Given the description of an element on the screen output the (x, y) to click on. 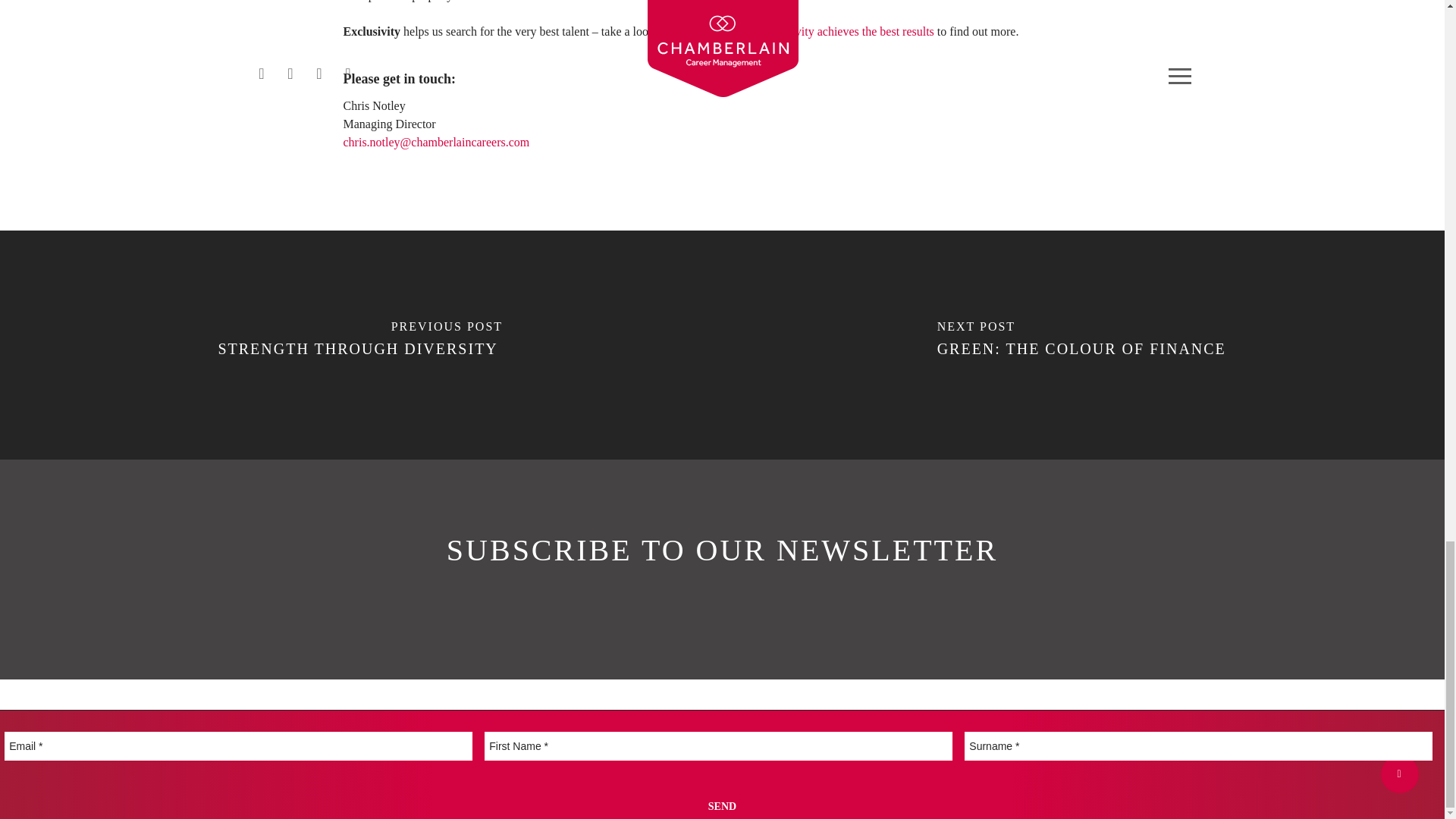
why exclusivity achieves the best results (835, 31)
